Given the description of an element on the screen output the (x, y) to click on. 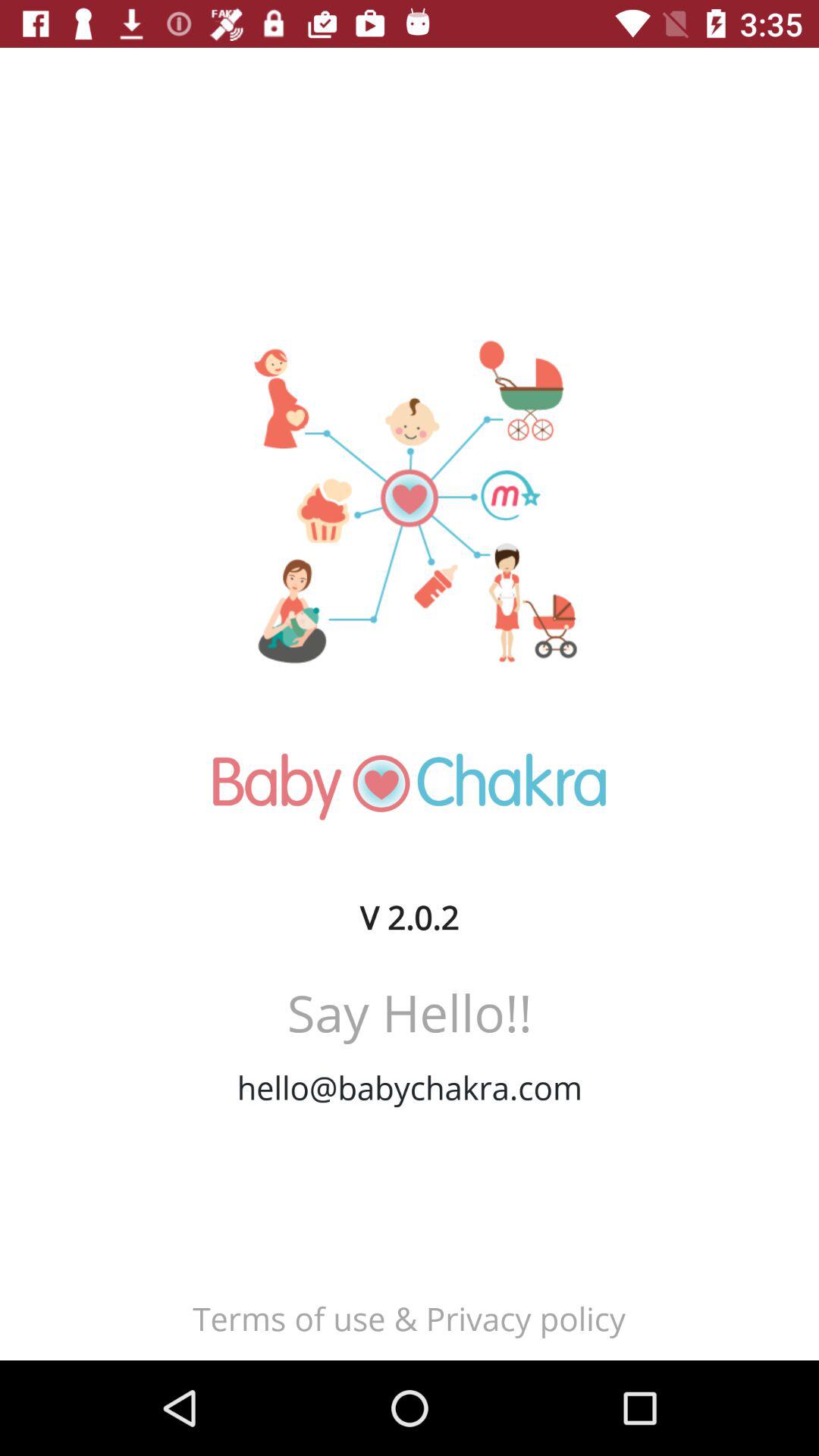
scroll to terms of use item (408, 1318)
